Given the description of an element on the screen output the (x, y) to click on. 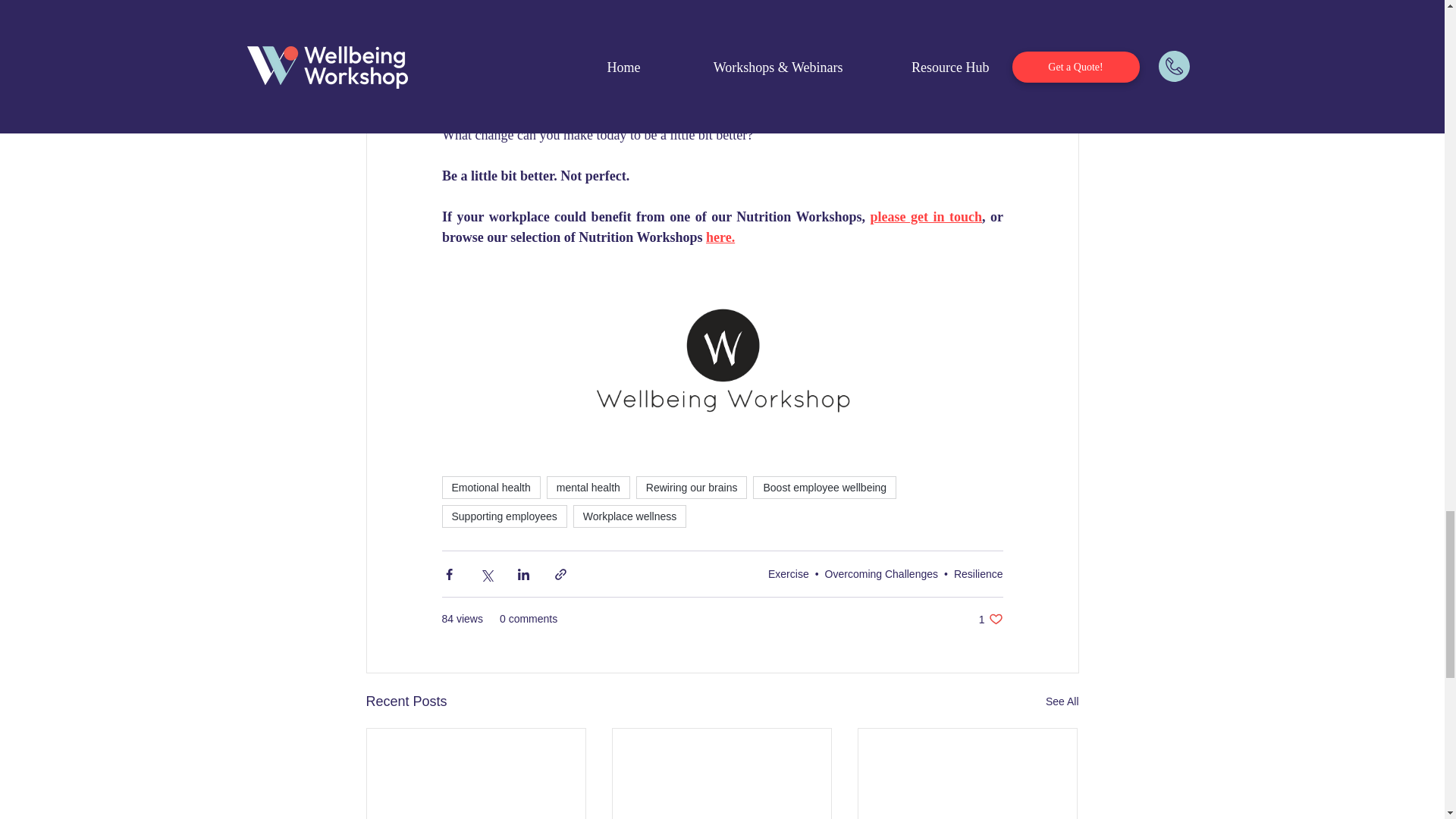
please get in touch (925, 216)
here. (720, 237)
